Given the description of an element on the screen output the (x, y) to click on. 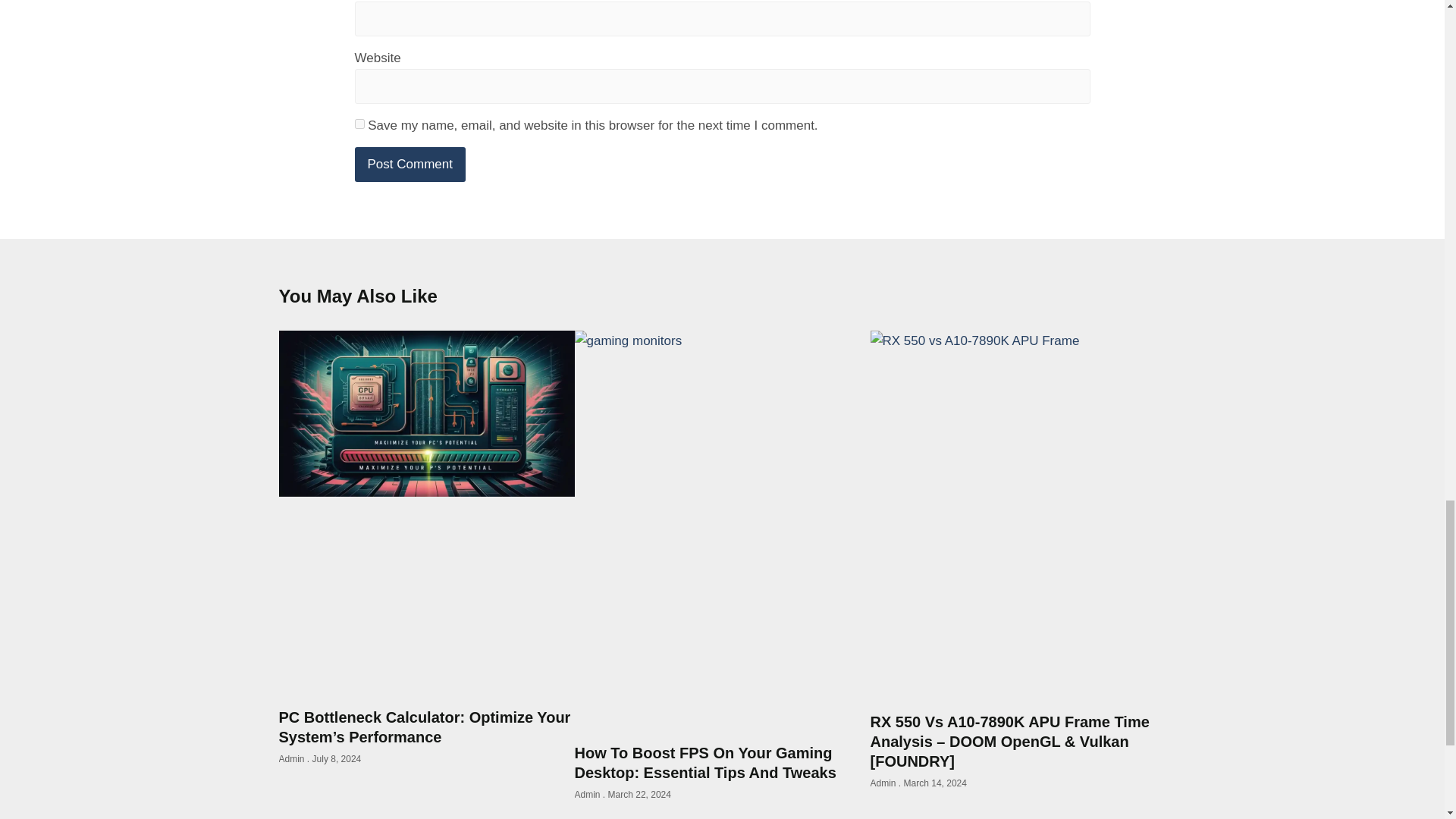
yes (360, 123)
Post Comment (410, 164)
Post Comment (410, 164)
